Given the description of an element on the screen output the (x, y) to click on. 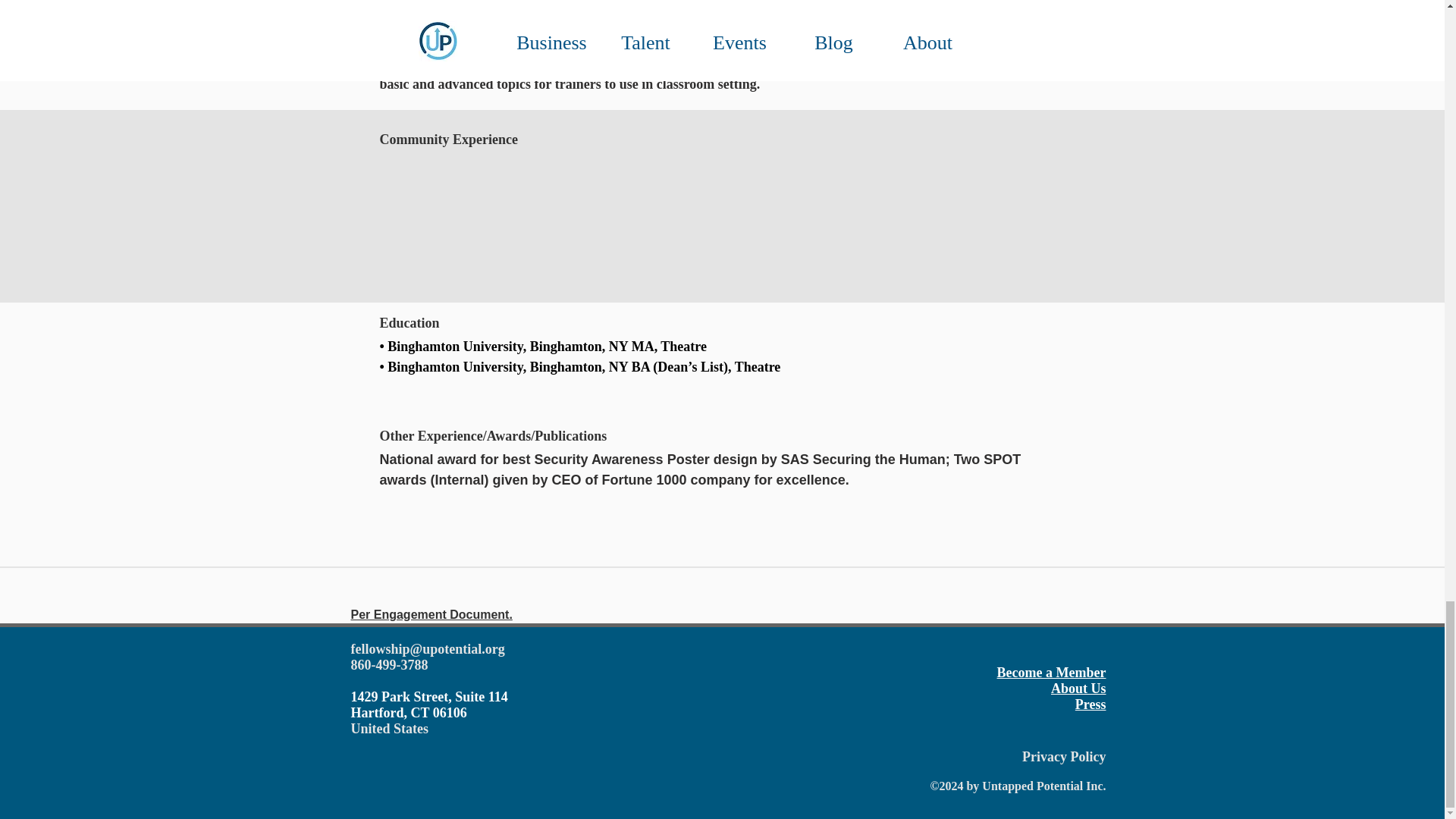
About Us (1078, 688)
Privacy Policy (1063, 756)
Become a Member (1051, 672)
Press (1090, 703)
Per Engagement Document. (431, 614)
